Given the description of an element on the screen output the (x, y) to click on. 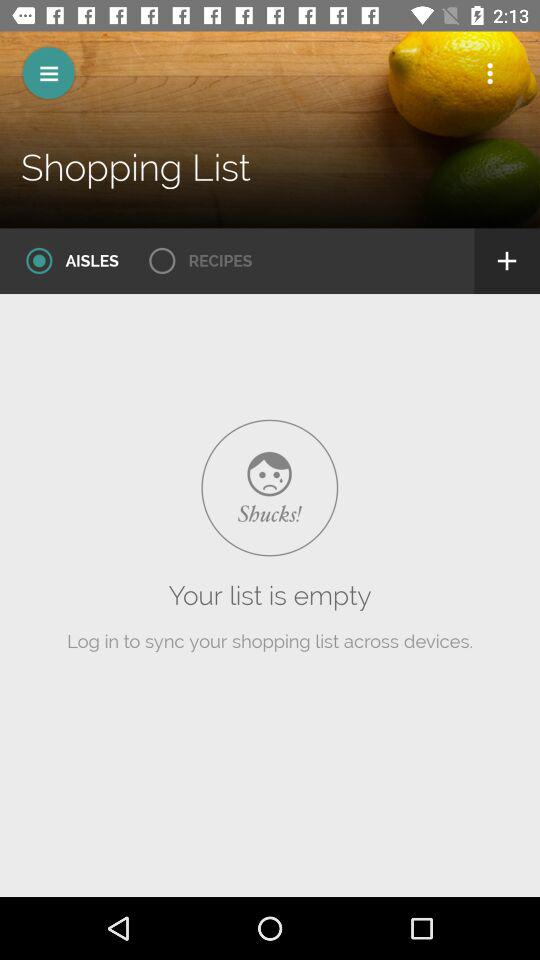
go to recipes (194, 261)
